Given the description of an element on the screen output the (x, y) to click on. 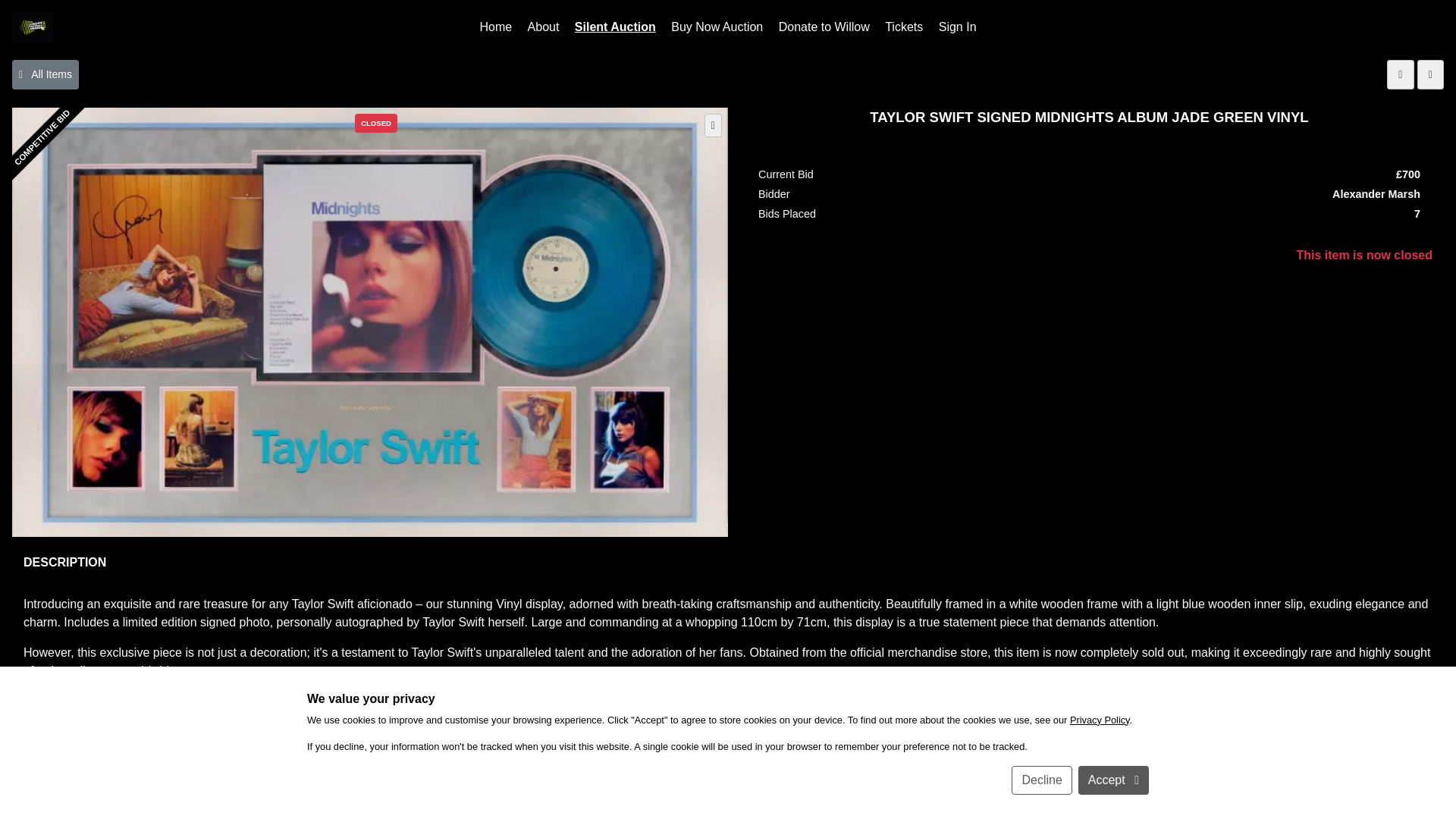
Silent Auction (615, 27)
Decline (1041, 779)
About (543, 27)
Privacy Policy (746, 809)
Buy Now Auction (716, 27)
Tickets (903, 27)
Home (495, 27)
Sign In (957, 27)
All Items (44, 74)
Accept (1113, 779)
